Given the description of an element on the screen output the (x, y) to click on. 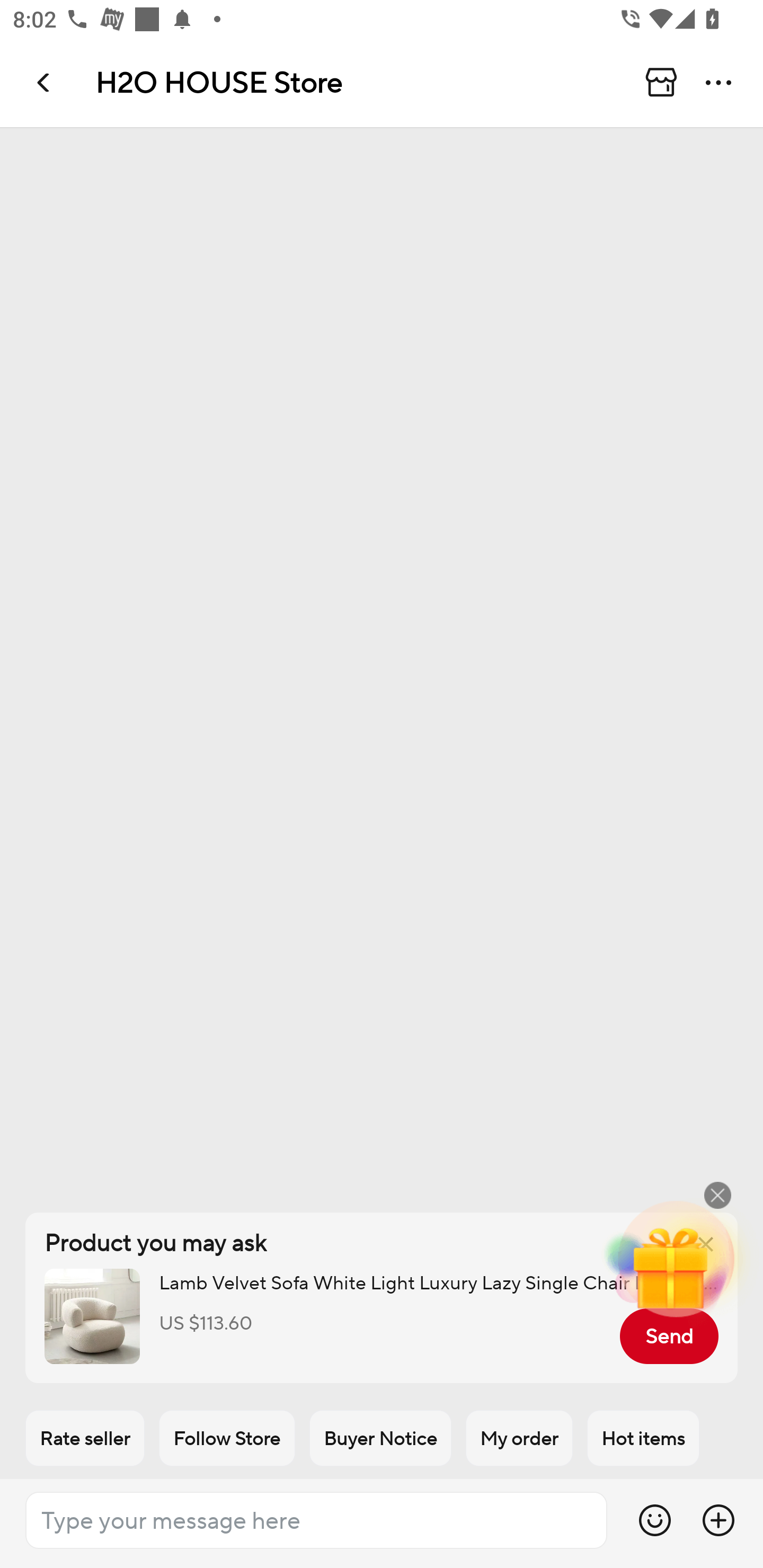
Navigate up (44, 82)
Send (668, 1335)
Rate seller (84, 1437)
Follow Store (226, 1437)
Buyer Notice (380, 1437)
My order (519, 1437)
Hot items (642, 1437)
Type your message here (316, 1520)
